Given the description of an element on the screen output the (x, y) to click on. 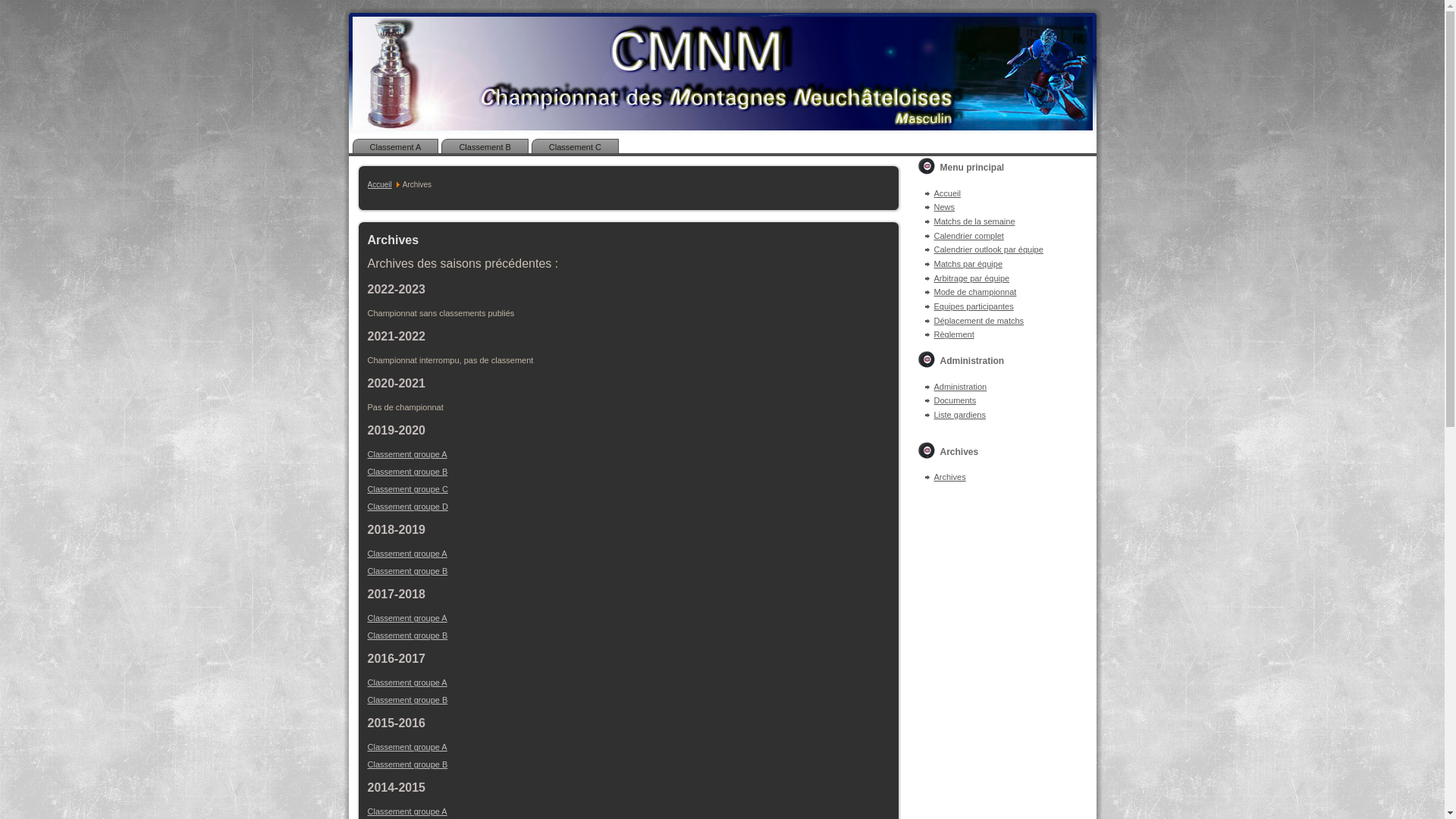
News Element type: text (944, 206)
Accueil Element type: text (947, 192)
Classement A Element type: text (394, 147)
Classement groupe A Element type: text (406, 617)
Classement groupe A Element type: text (406, 553)
Classement groupe A Element type: text (406, 746)
Classement groupe B Element type: text (407, 699)
Classement groupe A Element type: text (406, 682)
Classement B Element type: text (484, 147)
Classement groupe C Element type: text (407, 488)
Classement groupe B Element type: text (407, 635)
Matchs de la semaine Element type: text (974, 220)
Administration Element type: text (960, 386)
Classement groupe B Element type: text (407, 471)
Classement groupe A Element type: text (406, 453)
Liste gardiens Element type: text (960, 414)
Classement groupe D Element type: text (407, 506)
Accueil Element type: text (379, 184)
Classement groupe B Element type: text (407, 763)
Documents Element type: text (955, 399)
Classement groupe B Element type: text (407, 570)
Classement groupe A Element type: text (406, 810)
Mode de championnat Element type: text (975, 291)
Archives Element type: text (950, 476)
Equipes participantes Element type: text (973, 305)
Calendrier complet Element type: text (969, 235)
Classement C Element type: text (574, 147)
